Given the description of an element on the screen output the (x, y) to click on. 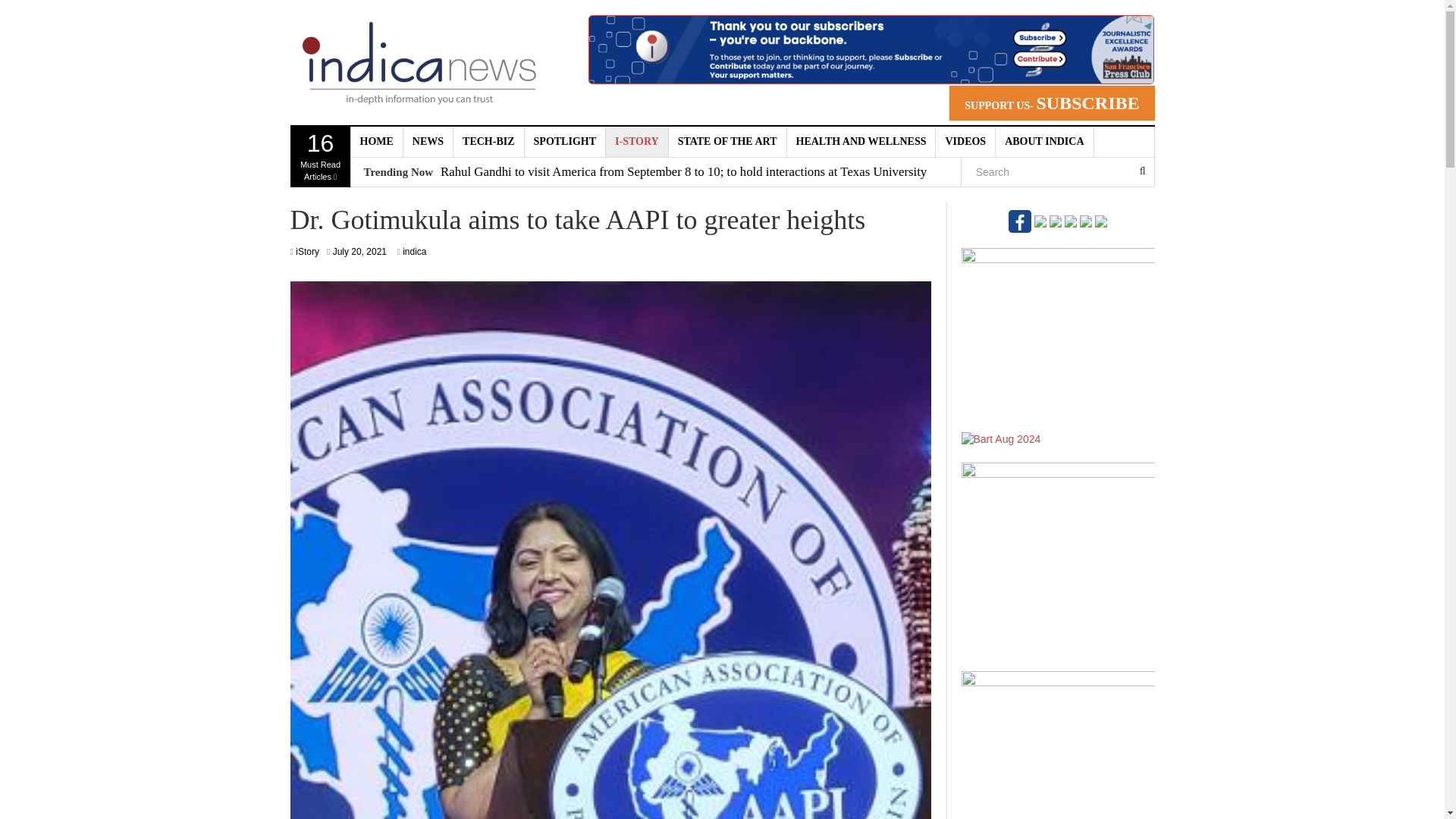
I-STORY (636, 141)
iStory (306, 251)
indica (414, 251)
indica News (418, 62)
NEWS (319, 156)
HOME (427, 141)
July 20, 2021 (376, 141)
VIDEOS (360, 251)
HEALTH AND WELLNESS (965, 141)
